Given the description of an element on the screen output the (x, y) to click on. 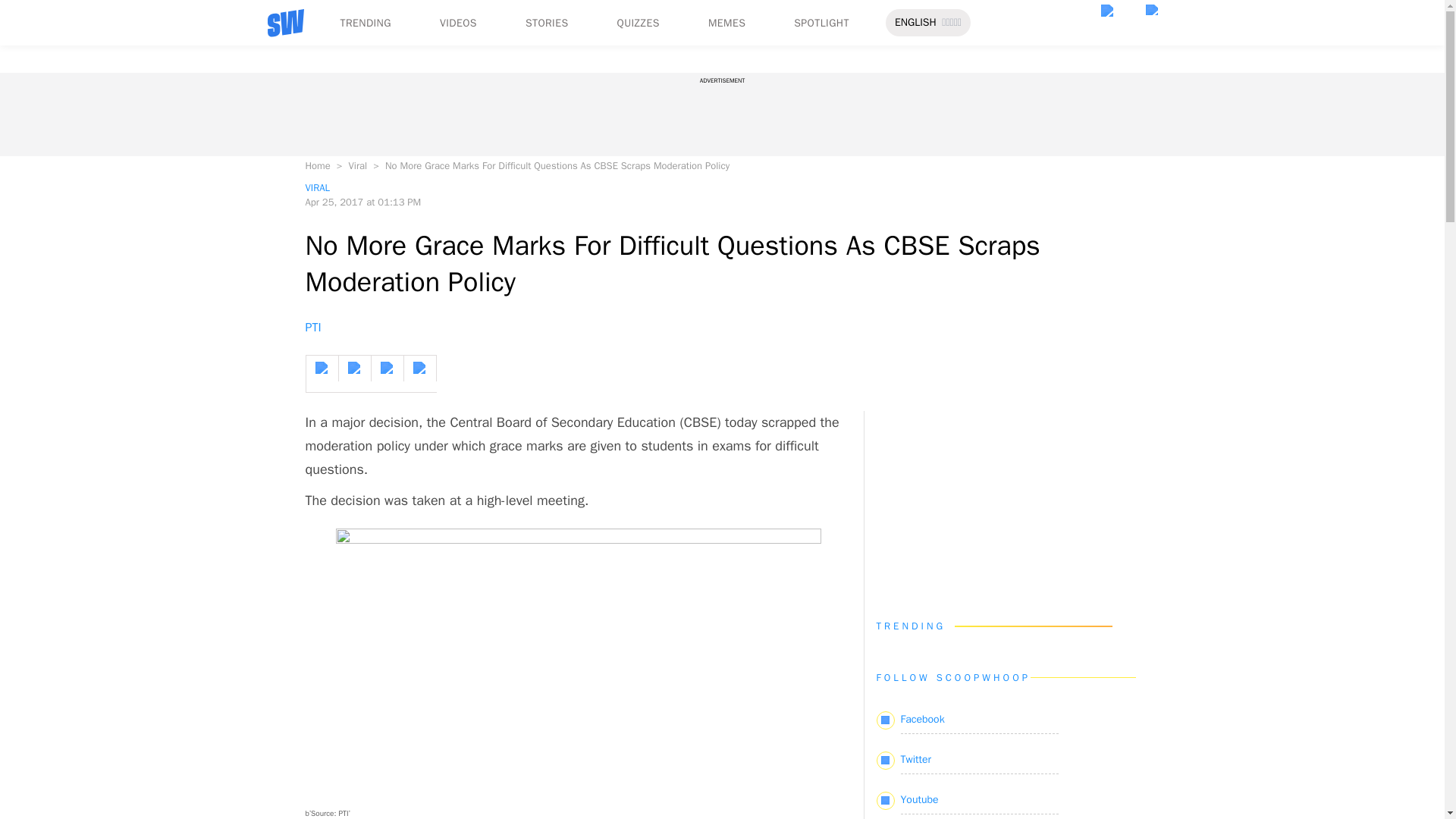
MEMES (726, 22)
SPOTLIGHT (820, 22)
ENGLISH (915, 22)
STORIES (547, 22)
TRENDING (364, 22)
VIDEOS (458, 22)
QUIZZES (638, 22)
